Given the description of an element on the screen output the (x, y) to click on. 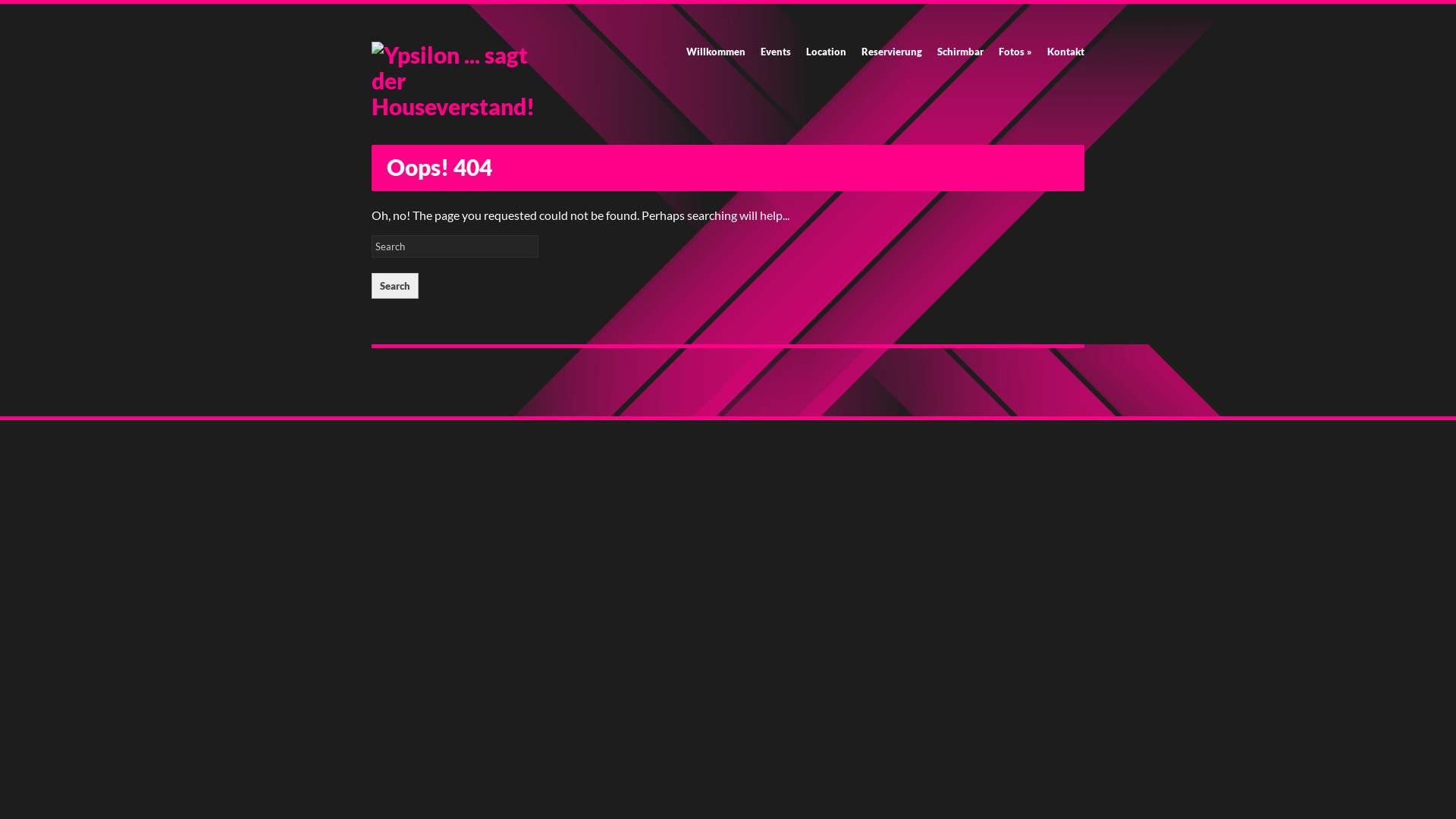
Events Element type: text (775, 51)
Search Element type: text (394, 285)
Kontakt Element type: text (1065, 51)
Schirmbar Element type: text (960, 51)
Location Element type: text (825, 51)
Willkommen Element type: text (715, 51)
Reservierung Element type: text (891, 51)
